Given the description of an element on the screen output the (x, y) to click on. 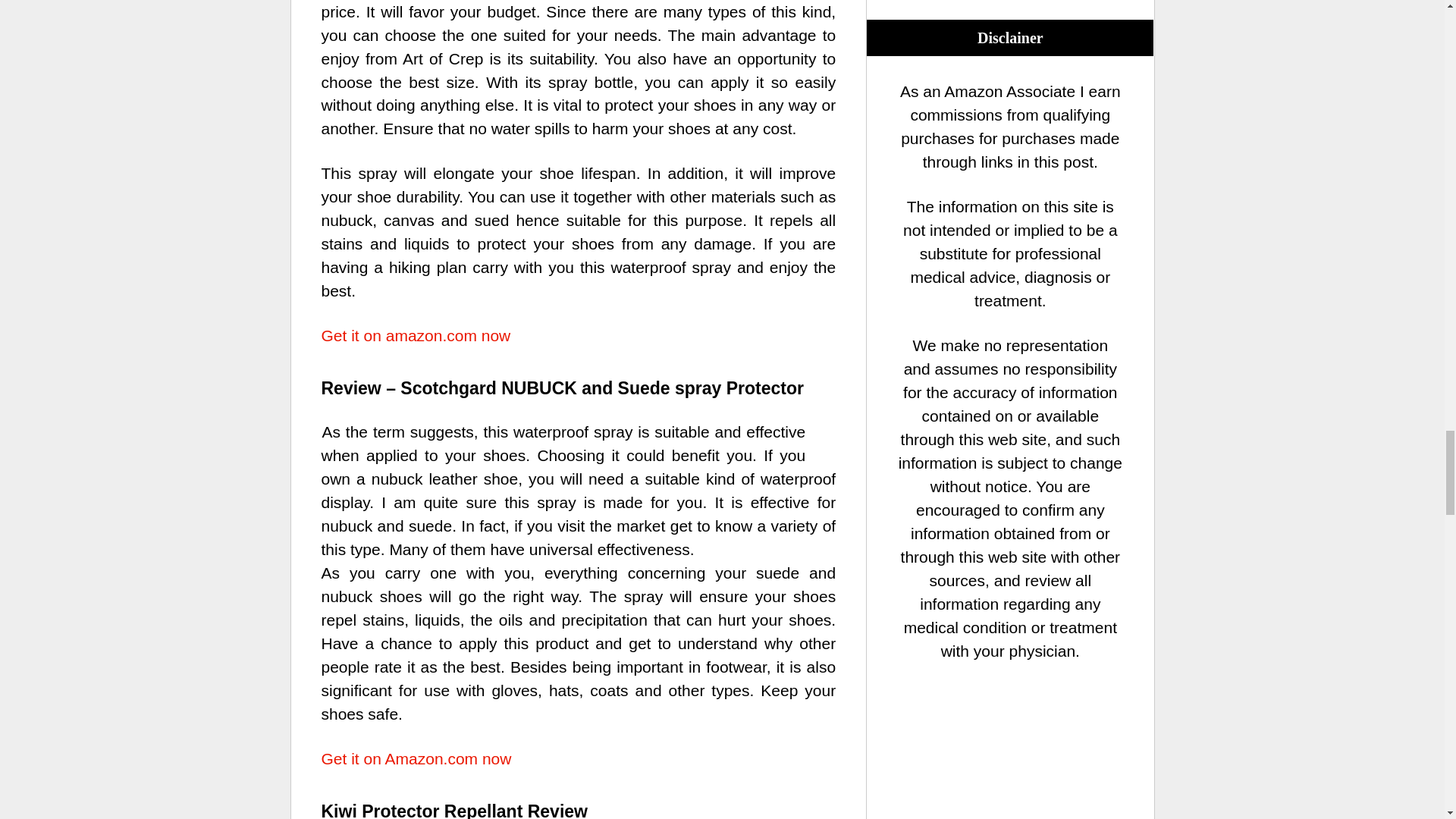
Get it on amazon.com now (416, 334)
Get it on Amazon.com now (416, 758)
